Given the description of an element on the screen output the (x, y) to click on. 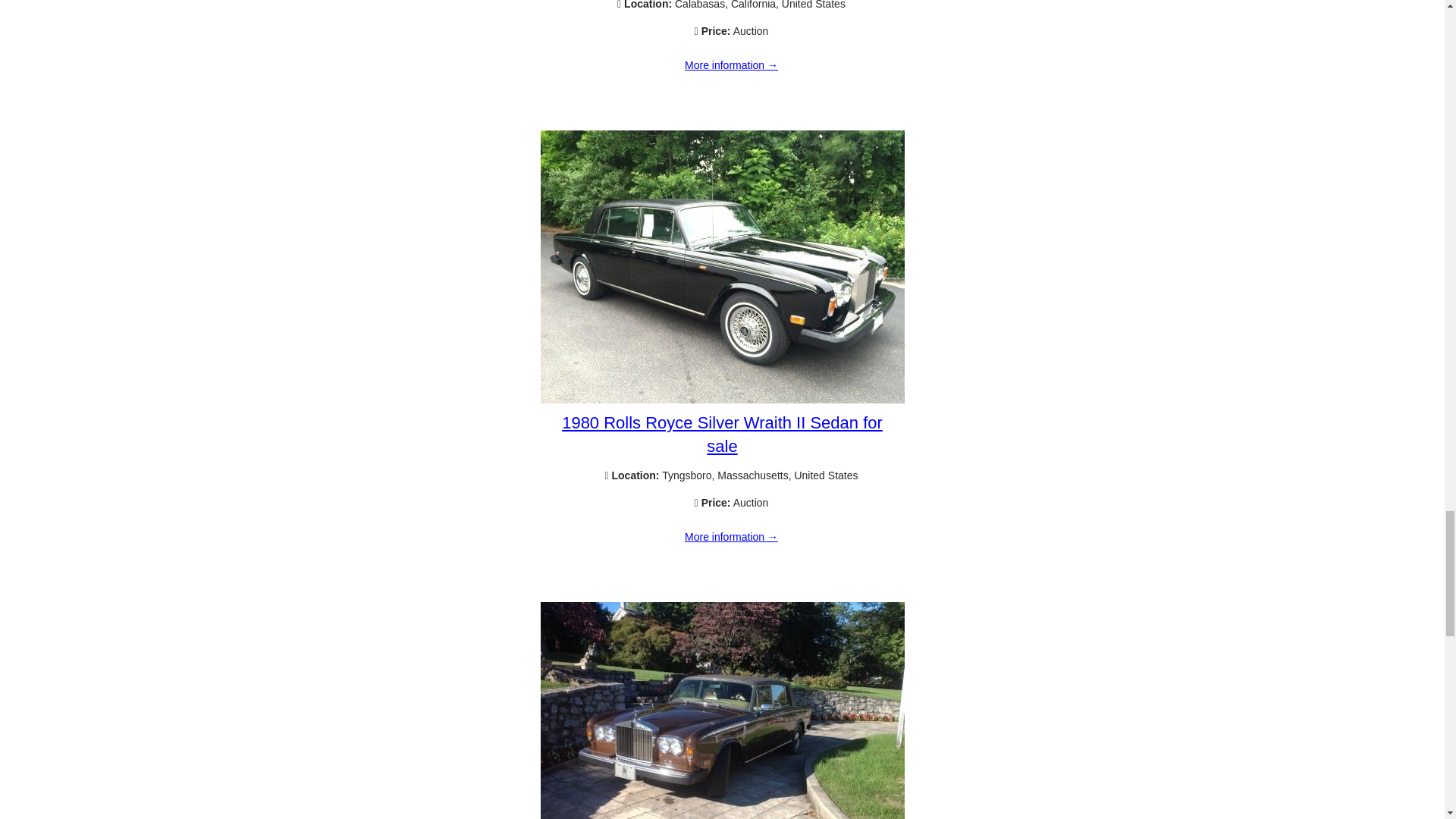
1980 Rolls Royce Silver Wraith II Sedan for sale (722, 434)
1980 Rolls Royce Silver Wrath II LWB for sale (731, 65)
1980 Rolls Royce Silver Wraith II Sedan for sale (722, 399)
1980 Rolls Royce Silver Wraith II Sedan for sale (731, 537)
